Given the description of an element on the screen output the (x, y) to click on. 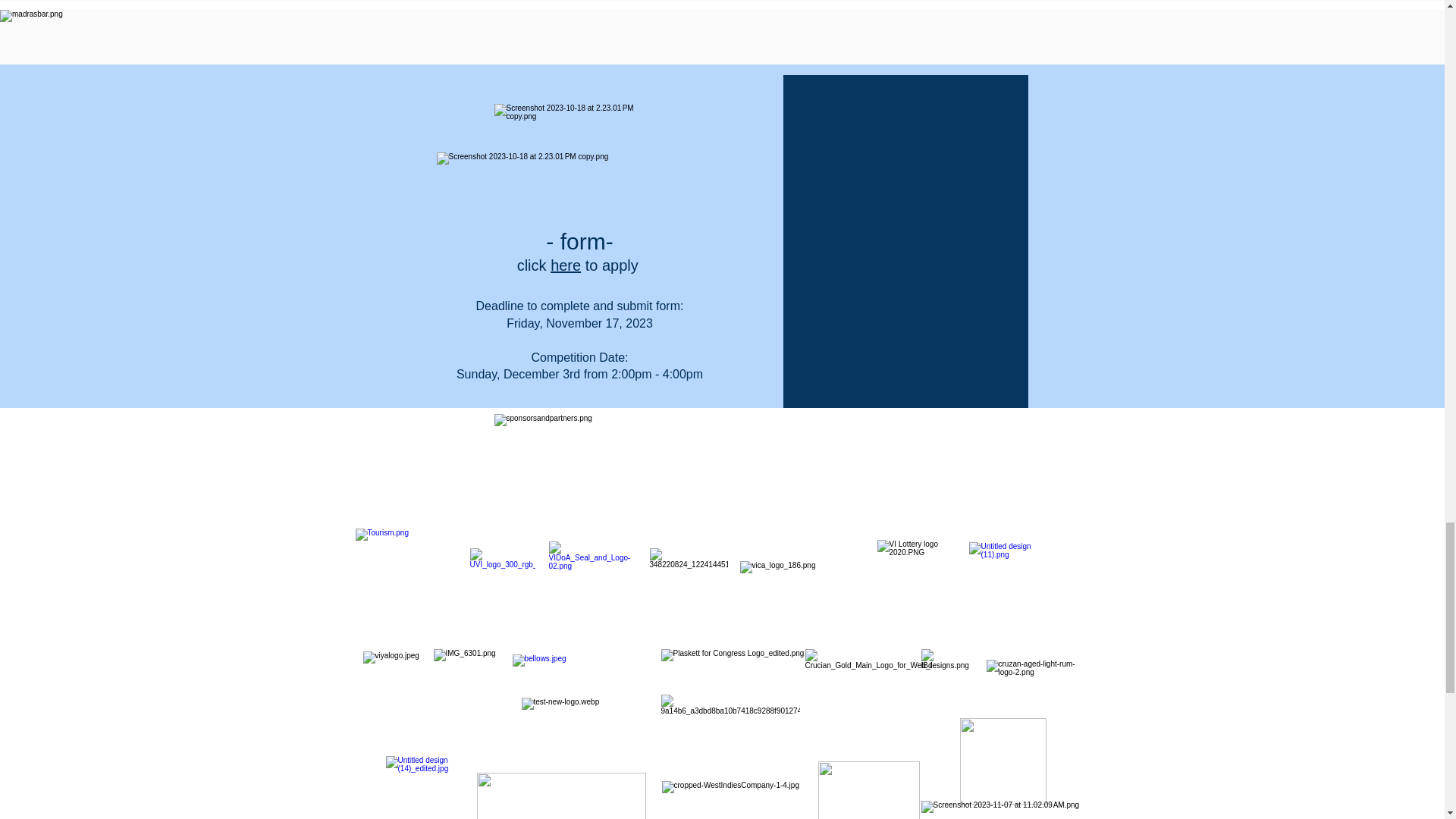
Food-Town-Logo.jpg (560, 796)
here (565, 265)
